Given the description of an element on the screen output the (x, y) to click on. 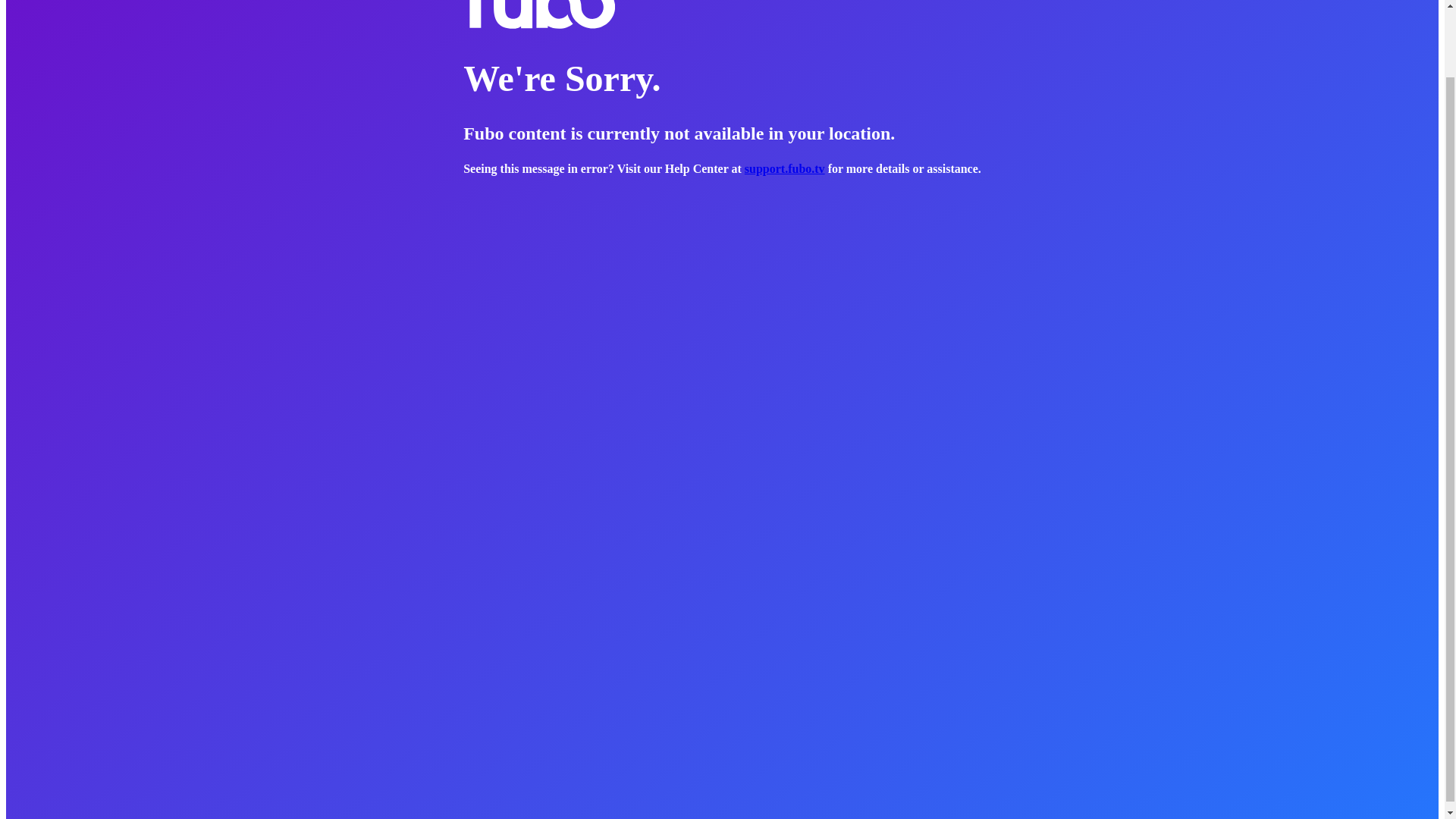
fubo logo (538, 15)
support.fubo.tv (784, 168)
